Given the description of an element on the screen output the (x, y) to click on. 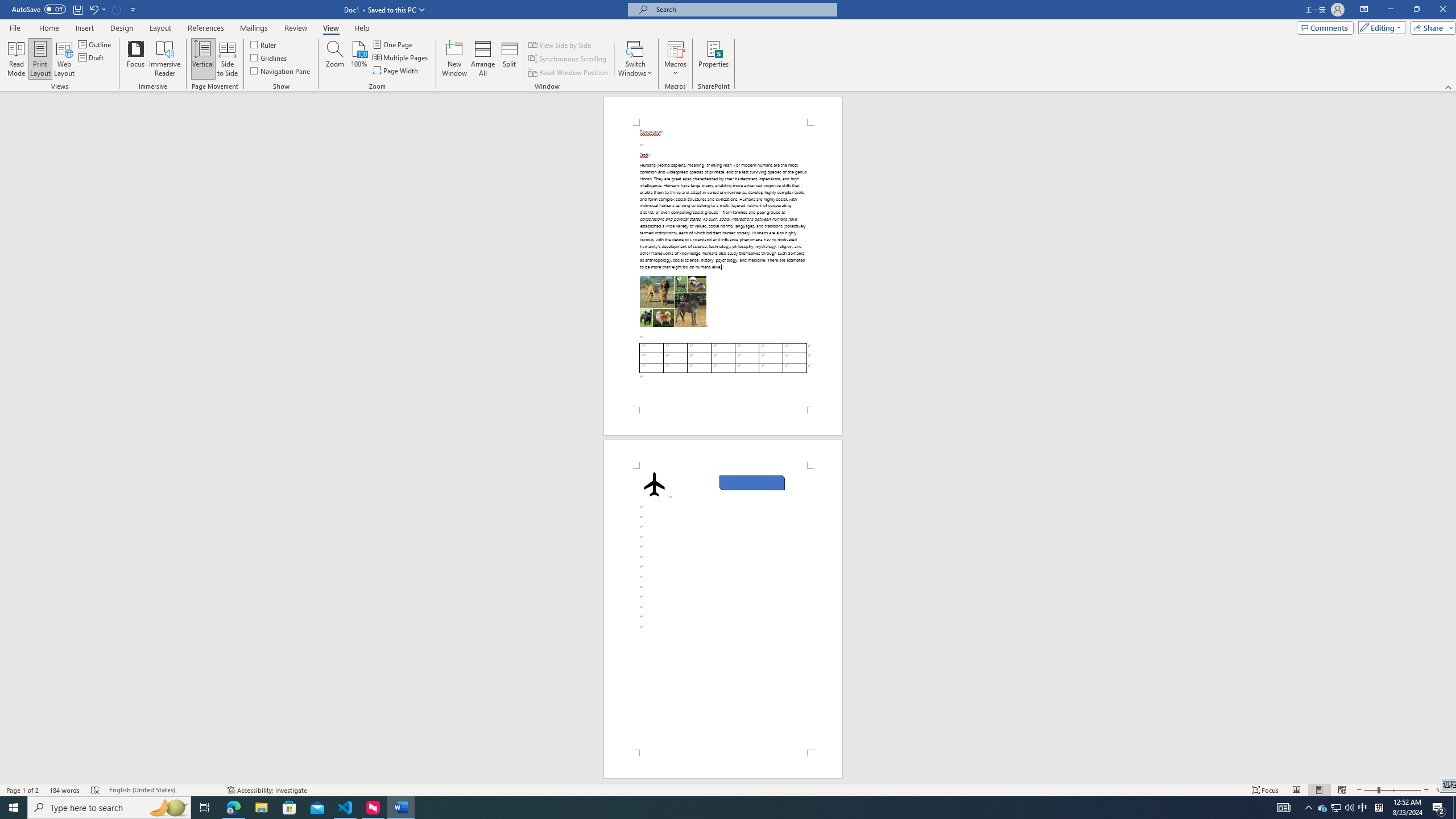
Focus (135, 58)
Synchronous Scrolling (568, 58)
Navigation Pane (281, 69)
Page 2 content (722, 608)
New Window (454, 58)
Vertical (202, 58)
Word Count 184 words (64, 790)
Switch Windows (635, 58)
Accessibility Checker Accessibility: Investigate (266, 790)
Undo Apply Quick Style Set (92, 9)
